Given the description of an element on the screen output the (x, y) to click on. 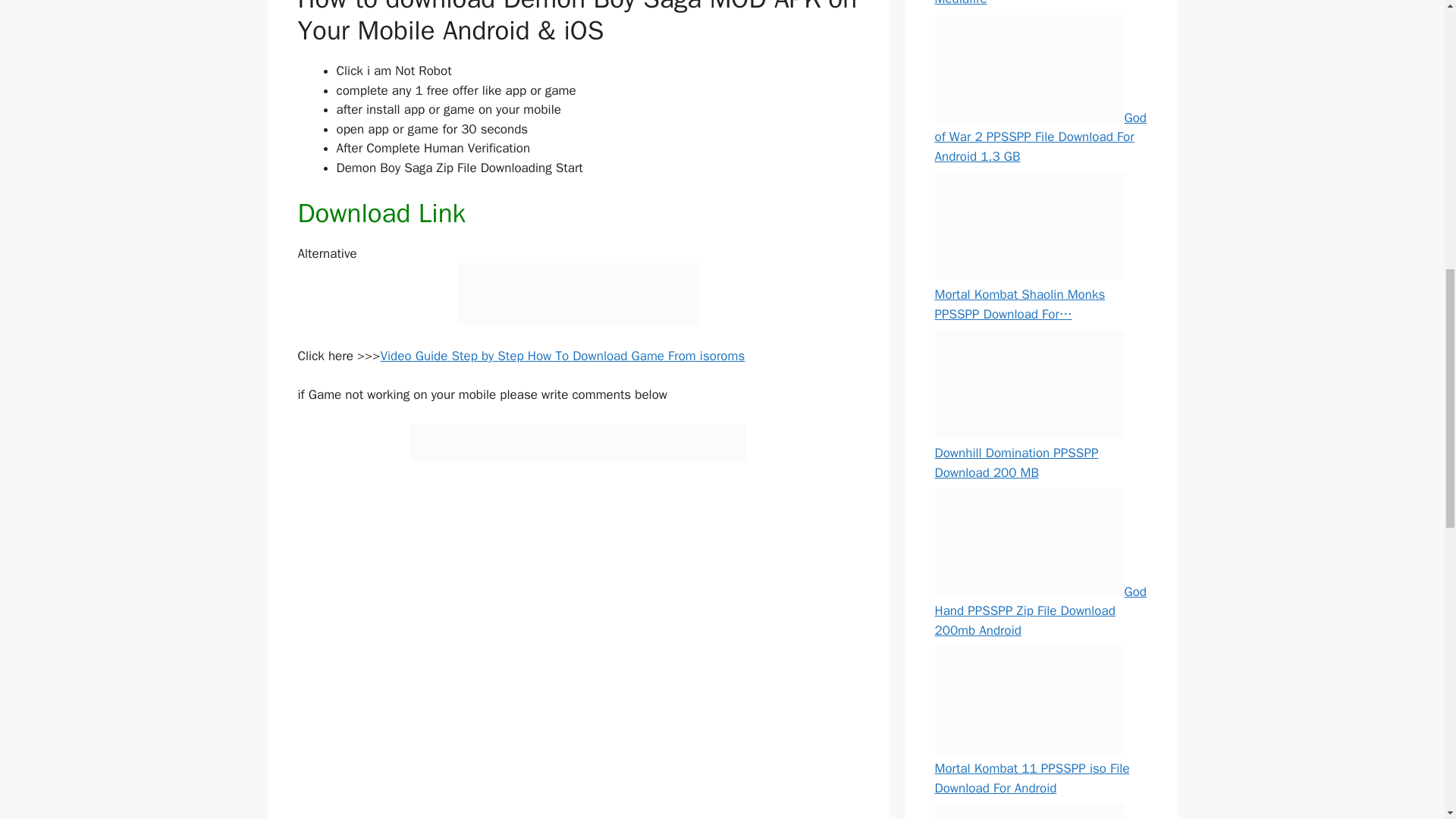
God of War 2 PPSSPP File Download For Android 1.3 GB (1040, 135)
God of War 2 PPSSPP File Download For Android 1.3 GB (1029, 68)
FIFA 23 PPSSPP Zip File Download Mediafire (1030, 3)
Video Guide Step by Step How To Download Game From isoroms (562, 355)
